Given the description of an element on the screen output the (x, y) to click on. 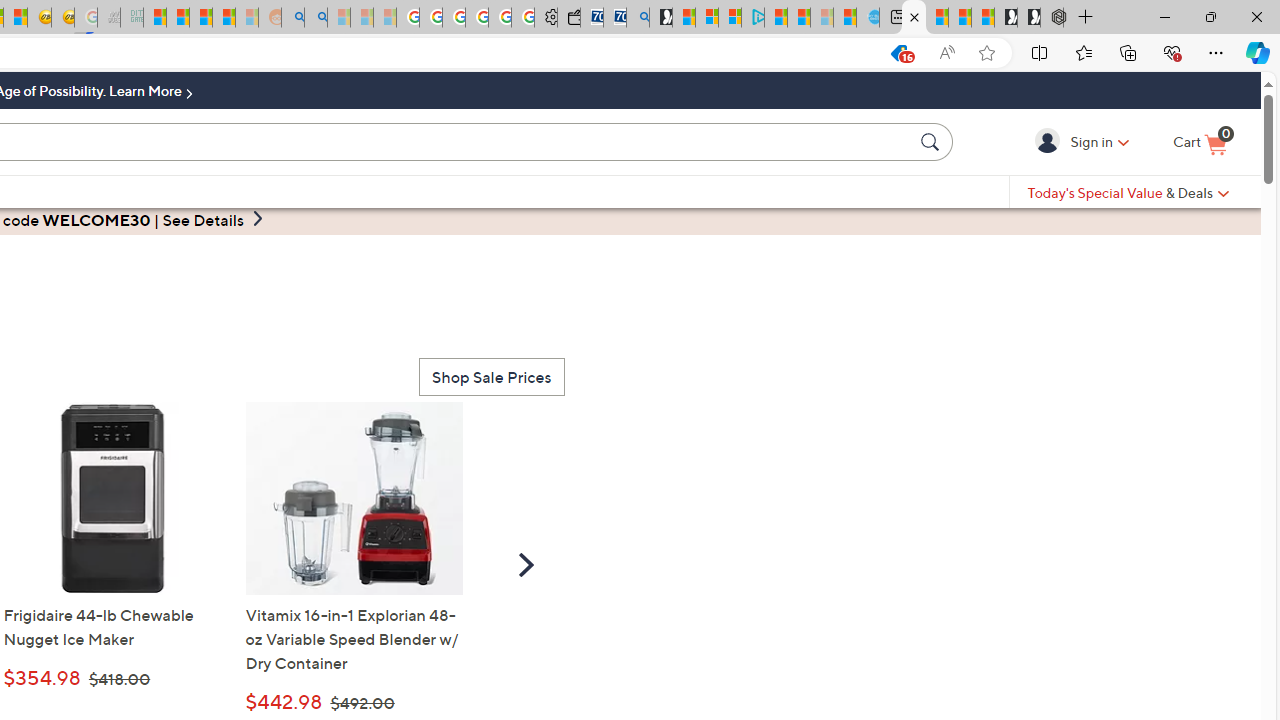
Bing Real Estate - Home sales and rental listings (637, 17)
